Given the description of an element on the screen output the (x, y) to click on. 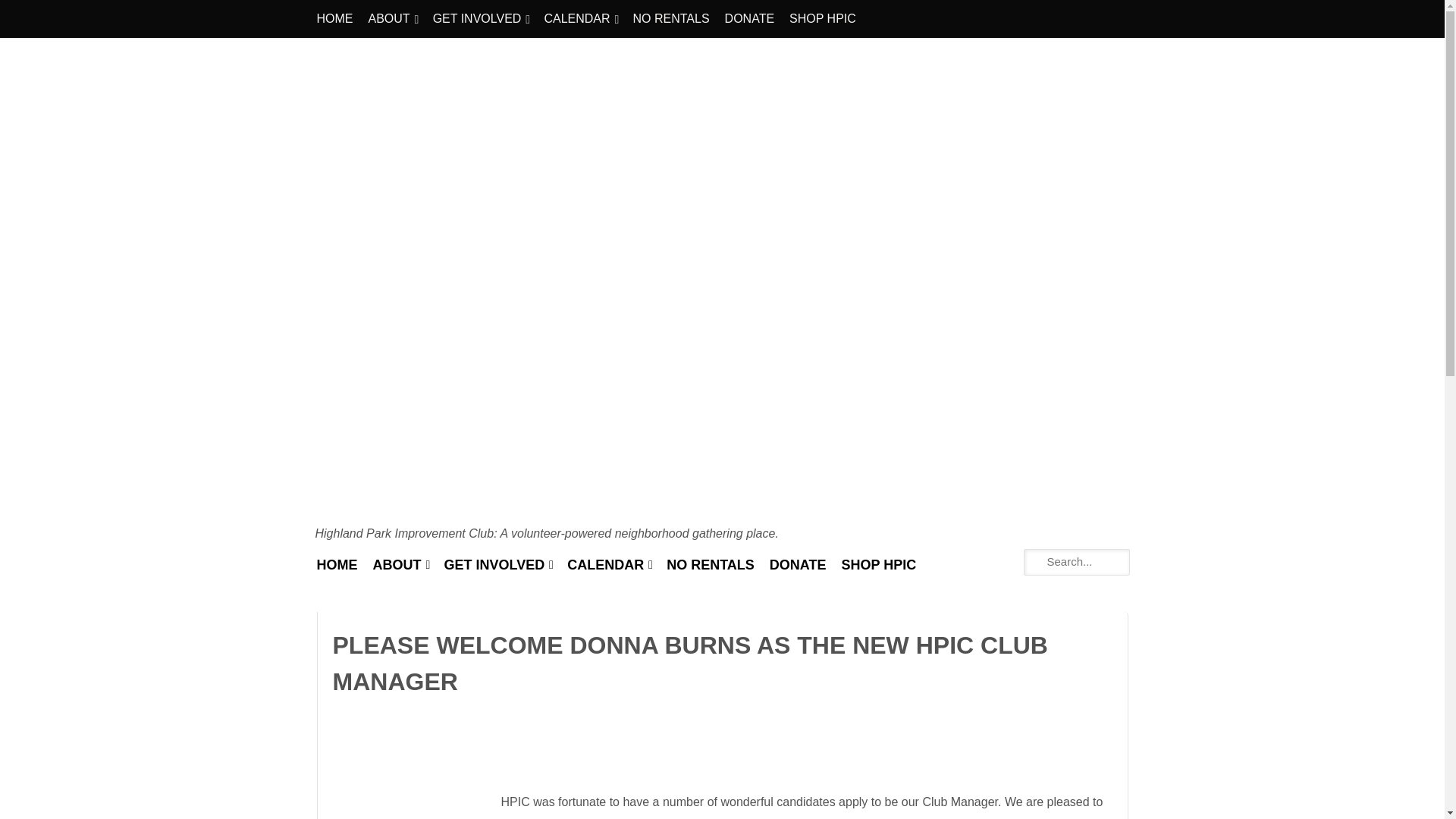
GET INVOLVED (477, 18)
ABOUT (397, 565)
HPIC (342, 533)
DONATE (749, 18)
ABOUT (389, 18)
HOME (336, 565)
CALENDAR (576, 18)
GET INVOLVED (494, 565)
db1 (406, 805)
HOME (334, 18)
SHOP HPIC (822, 18)
NO RENTALS (671, 18)
